Given the description of an element on the screen output the (x, y) to click on. 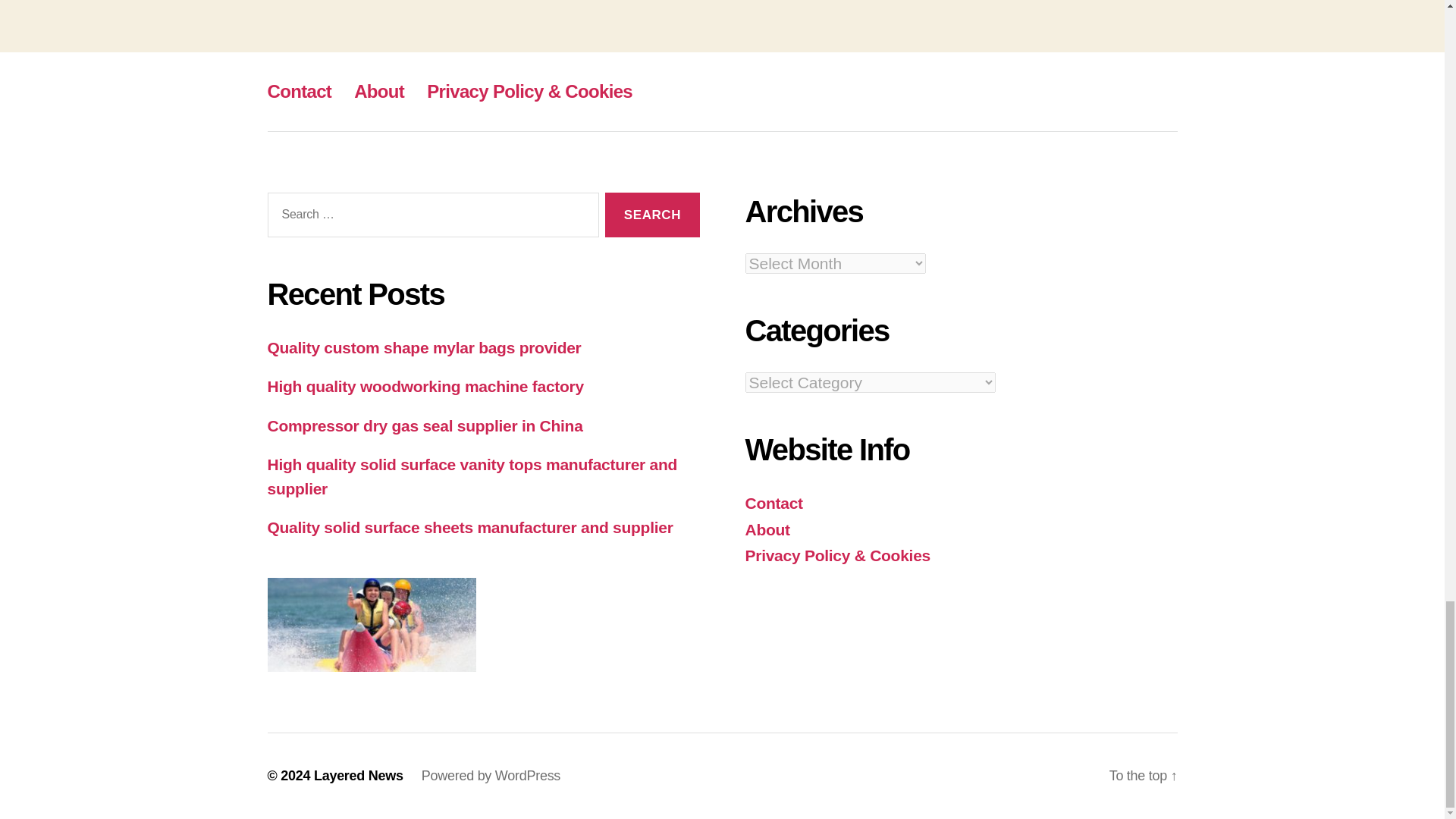
Contact (298, 91)
Search (651, 214)
Search (651, 214)
Quality solid surface sheets manufacturer and supplier (469, 527)
Contact (773, 502)
Compressor dry gas seal supplier in China (424, 425)
About (378, 91)
Quality custom shape mylar bags provider (423, 347)
High quality woodworking machine factory (424, 385)
About (766, 528)
